Given the description of an element on the screen output the (x, y) to click on. 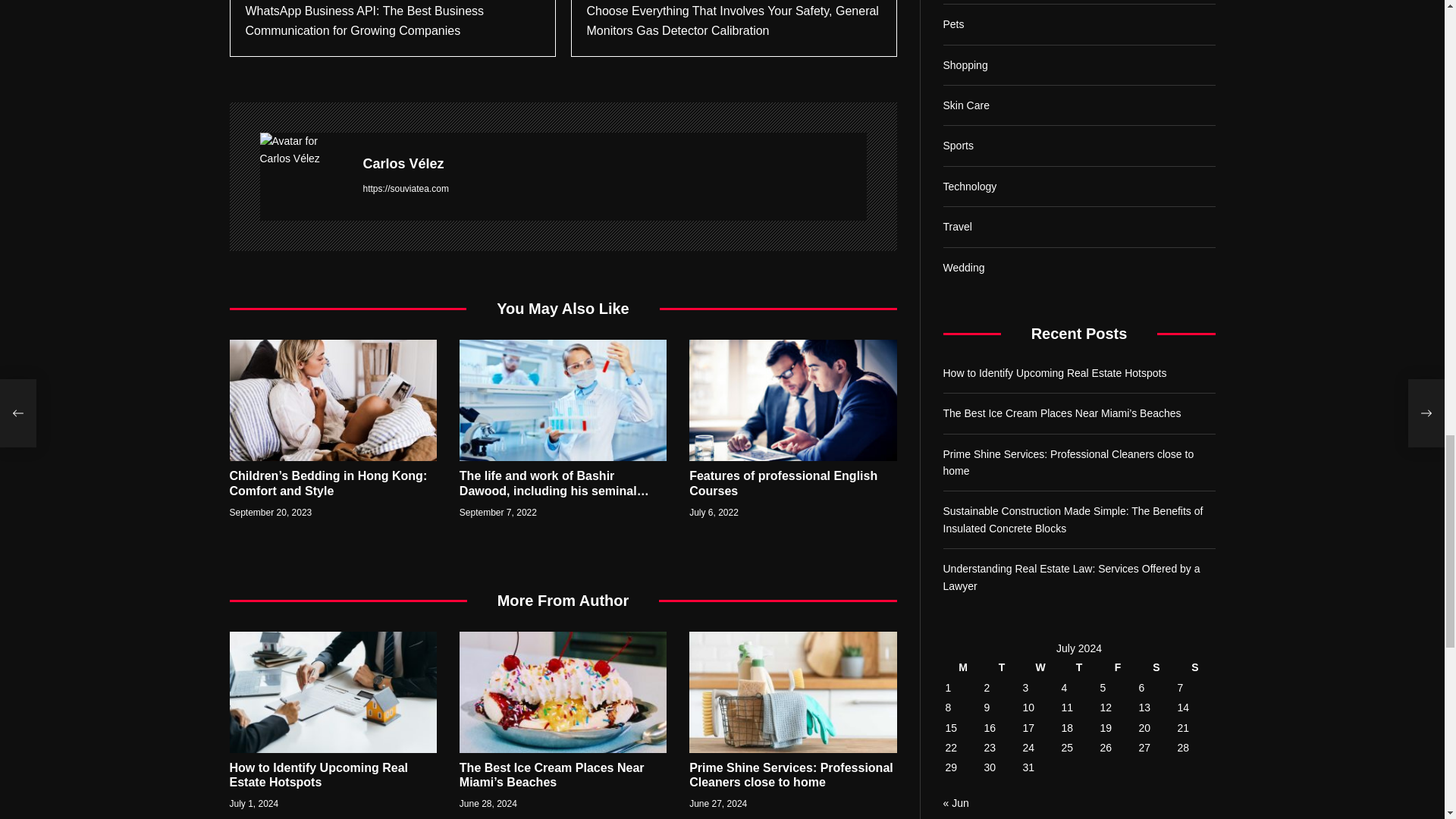
Tuesday (1001, 189)
Sunday (1195, 189)
Wednesday (1040, 189)
Saturday (1155, 189)
Monday (962, 189)
Thursday (1078, 189)
Friday (1118, 189)
